Given the description of an element on the screen output the (x, y) to click on. 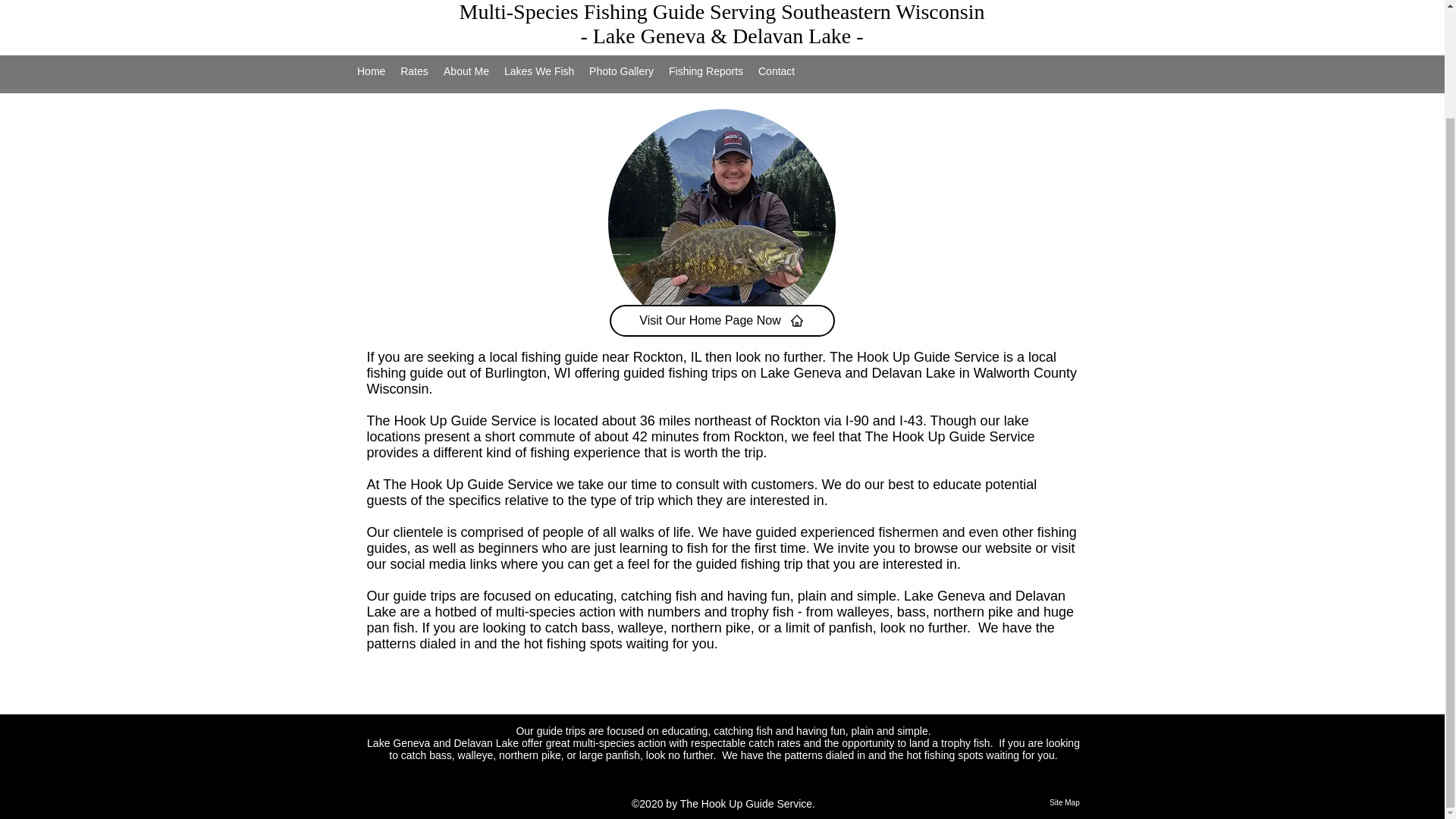
Home (371, 71)
Site Map (1063, 802)
Fishing Reports (706, 71)
Visit Our Home Page Now (722, 320)
About Me (465, 71)
Contact (776, 71)
Photo Gallery (620, 71)
Lakes We Fish (538, 71)
